Given the description of an element on the screen output the (x, y) to click on. 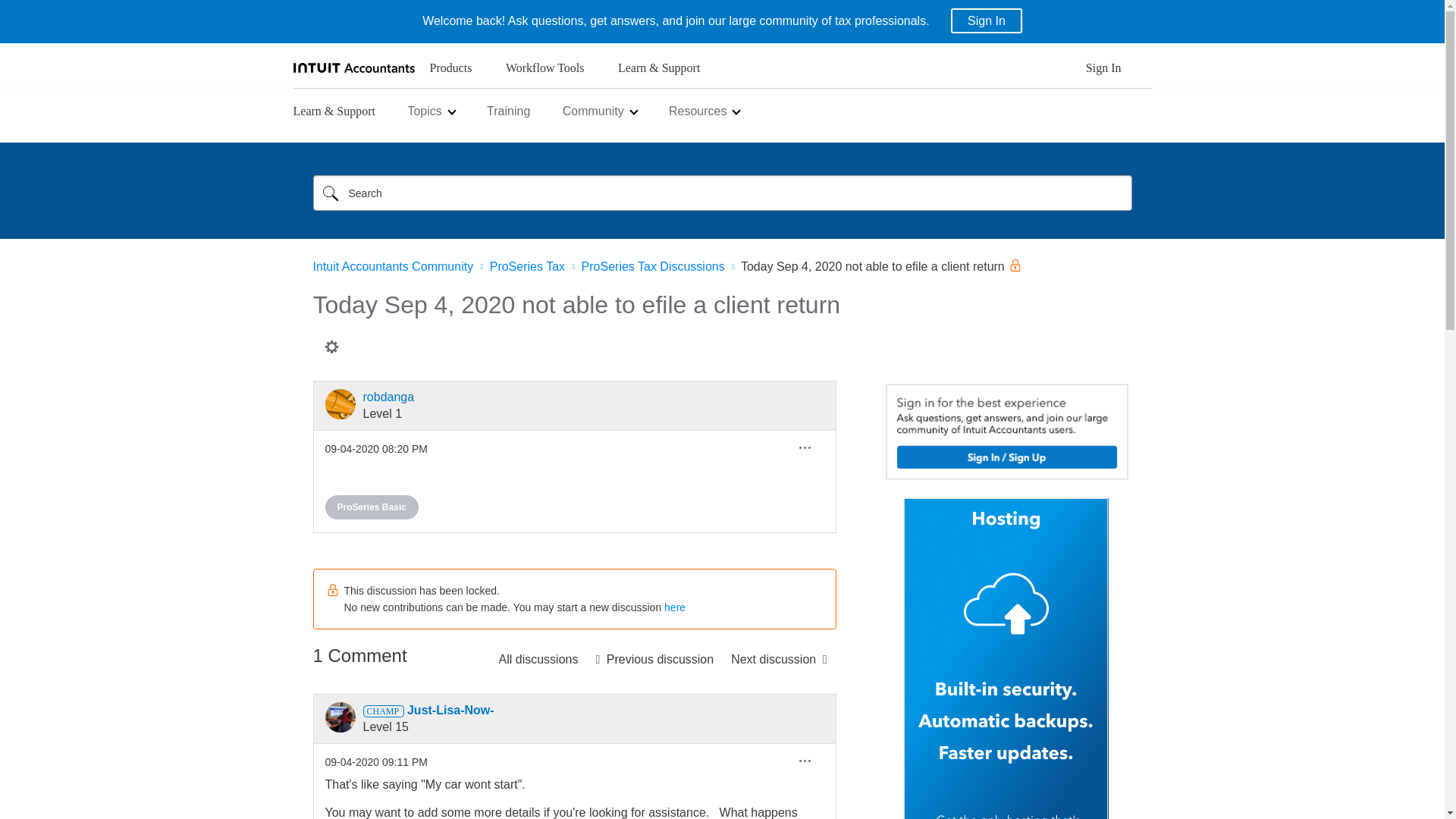
Posted on (375, 449)
Search (330, 192)
ProSeries Tax Discussions (538, 659)
Show option menu (331, 346)
Show option menu (805, 447)
Search (722, 192)
Search (330, 192)
robdanga (339, 404)
Just-Lisa-Now- (339, 716)
Sign In (1103, 72)
DC Rental for DC Resident (654, 659)
Level 15 (382, 711)
Unable to validate your online credentials (778, 659)
Sign In (986, 20)
